Given the description of an element on the screen output the (x, y) to click on. 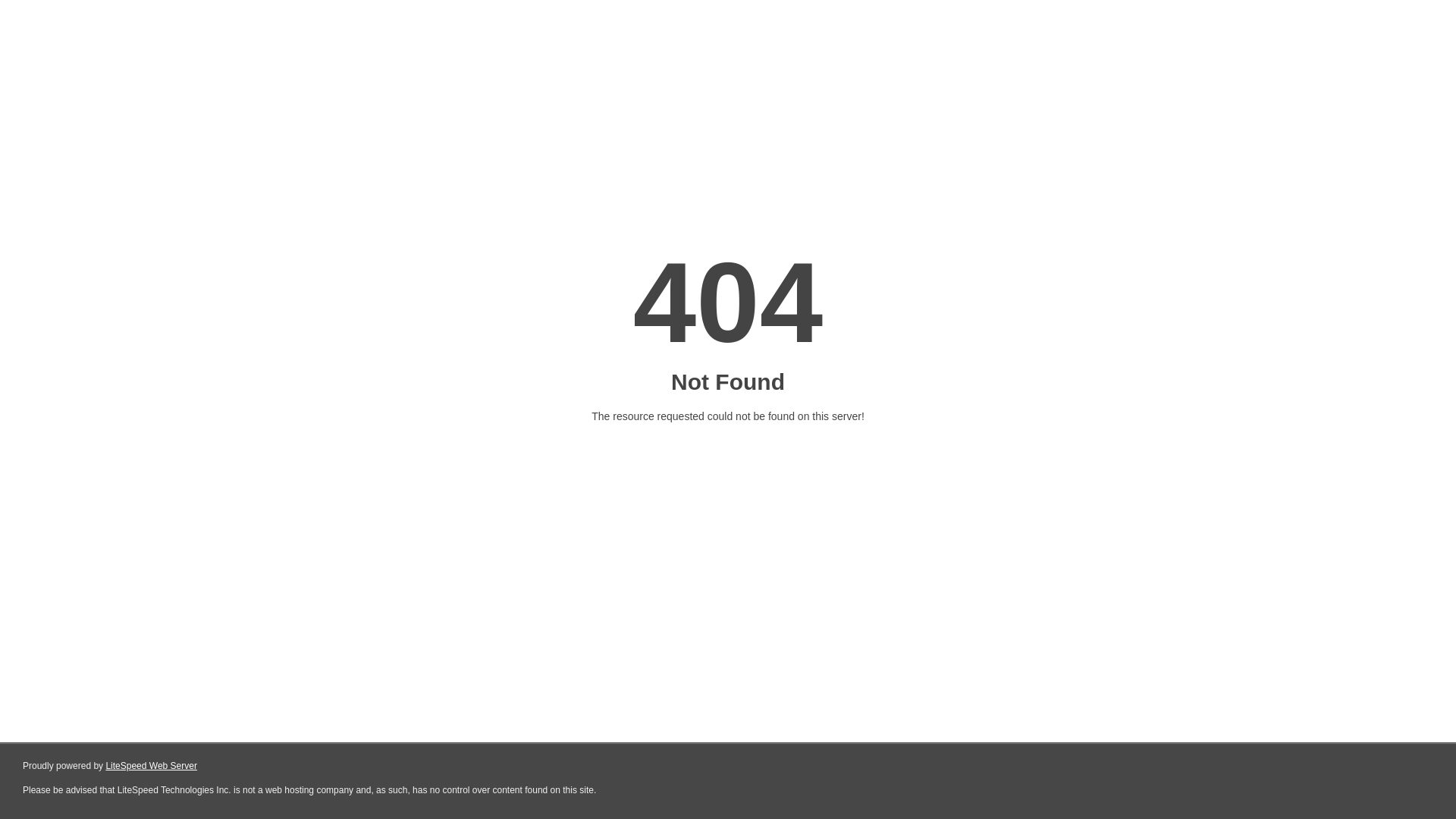
LiteSpeed Web Server Element type: text (151, 765)
